Given the description of an element on the screen output the (x, y) to click on. 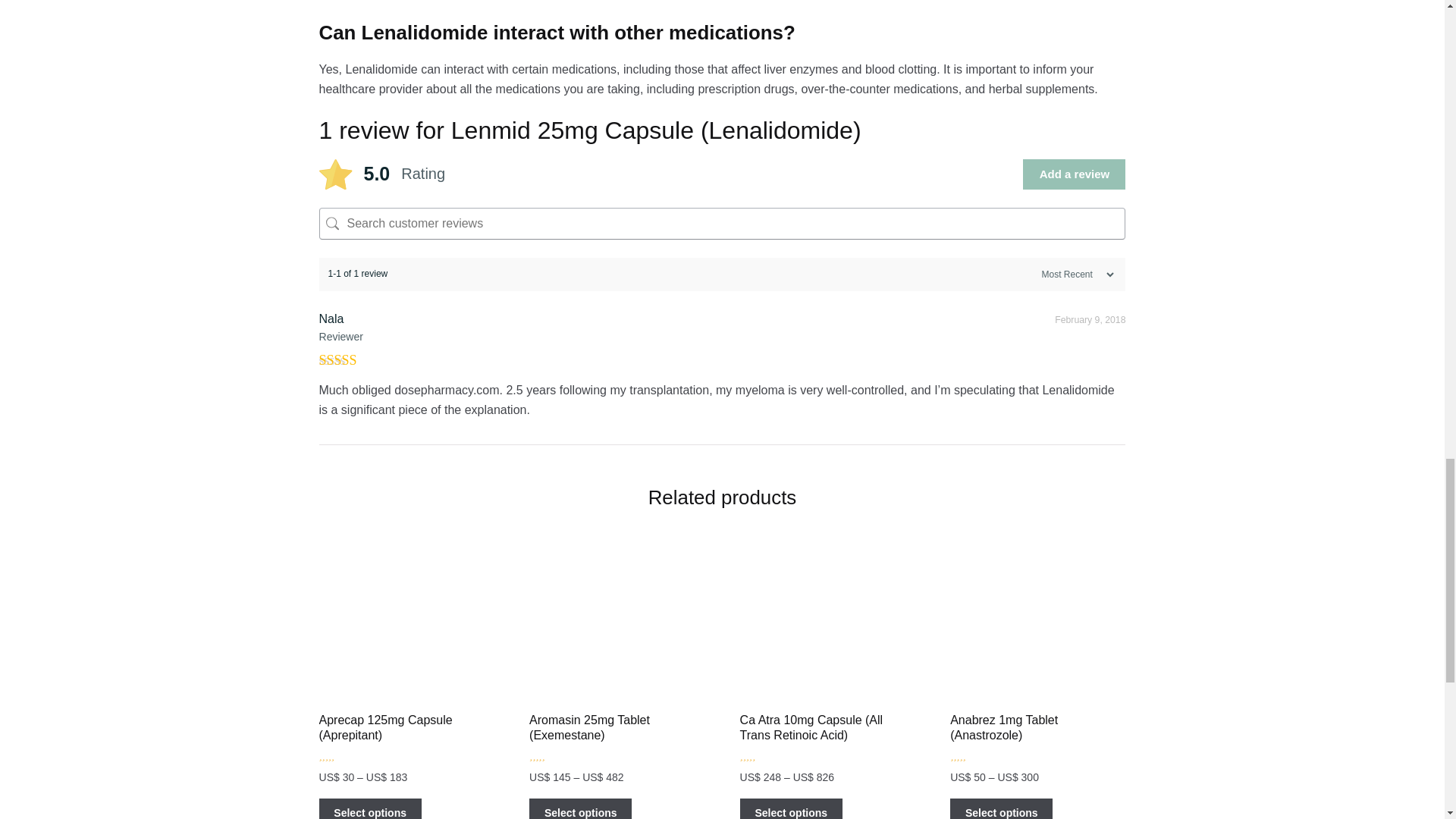
Add a review (1074, 173)
